Given the description of an element on the screen output the (x, y) to click on. 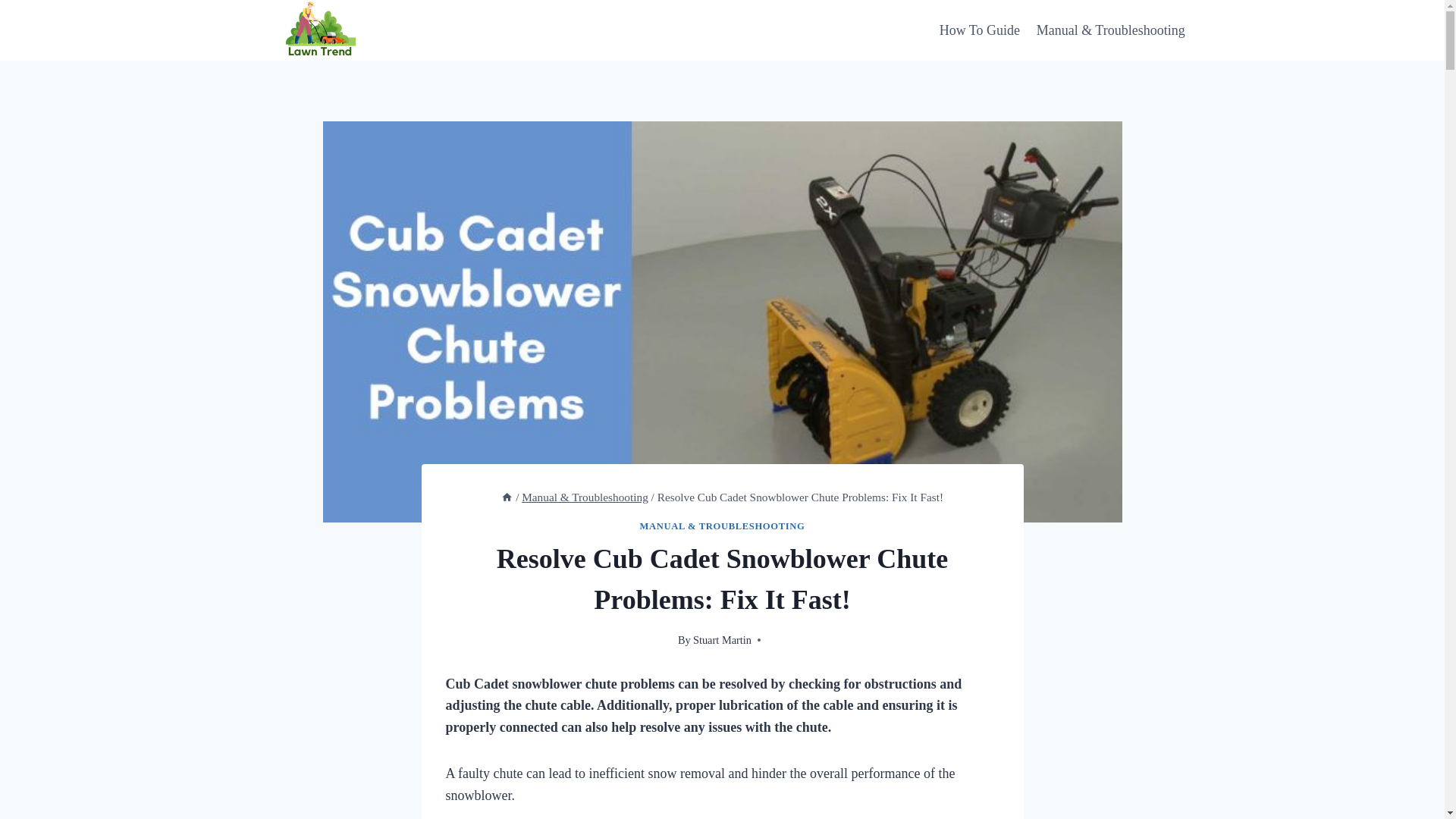
Stuart Martin (722, 639)
How To Guide (979, 30)
Home (506, 496)
